Given the description of an element on the screen output the (x, y) to click on. 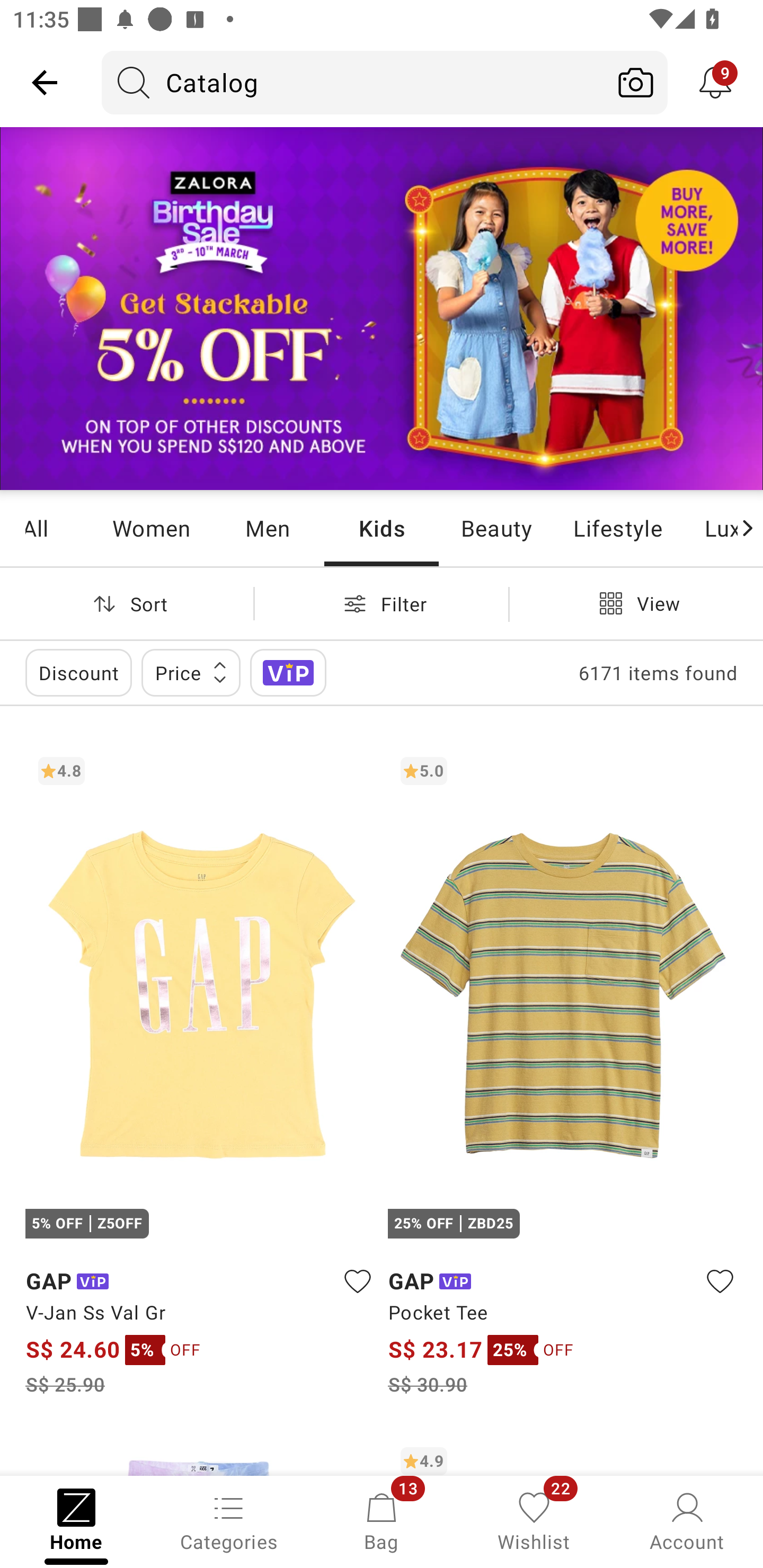
Navigate up (44, 82)
Catalog (352, 82)
All (59, 527)
Women (151, 527)
Men (266, 527)
Beauty (495, 527)
Lifestyle (617, 527)
Luxury (709, 527)
Sort (126, 603)
Filter (381, 603)
View (636, 603)
Discount (78, 672)
Price (190, 672)
Categories (228, 1519)
Bag, 13 new notifications Bag (381, 1519)
Wishlist, 22 new notifications Wishlist (533, 1519)
Account (686, 1519)
